Given the description of an element on the screen output the (x, y) to click on. 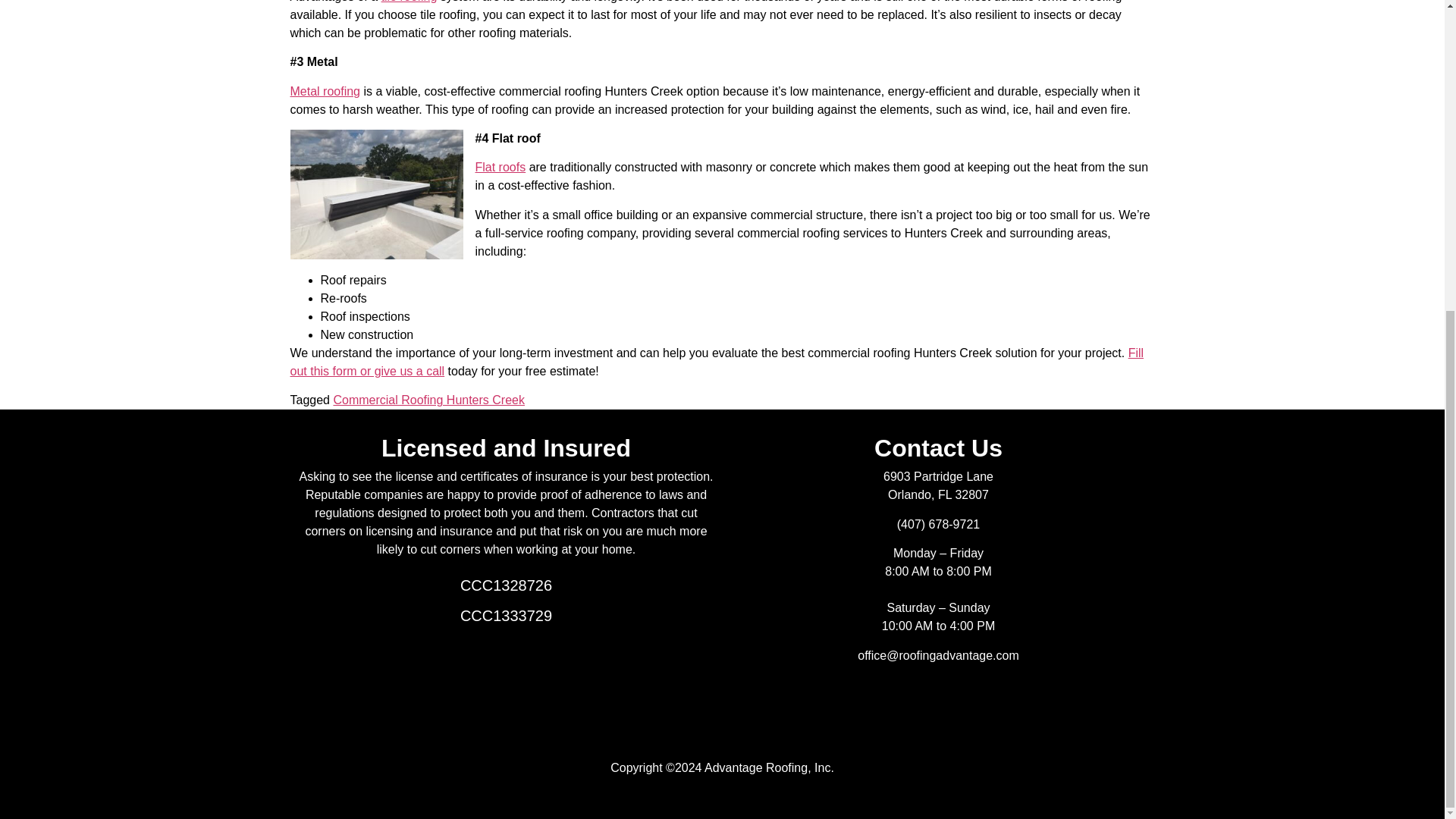
tile roofing (409, 1)
